Given the description of an element on the screen output the (x, y) to click on. 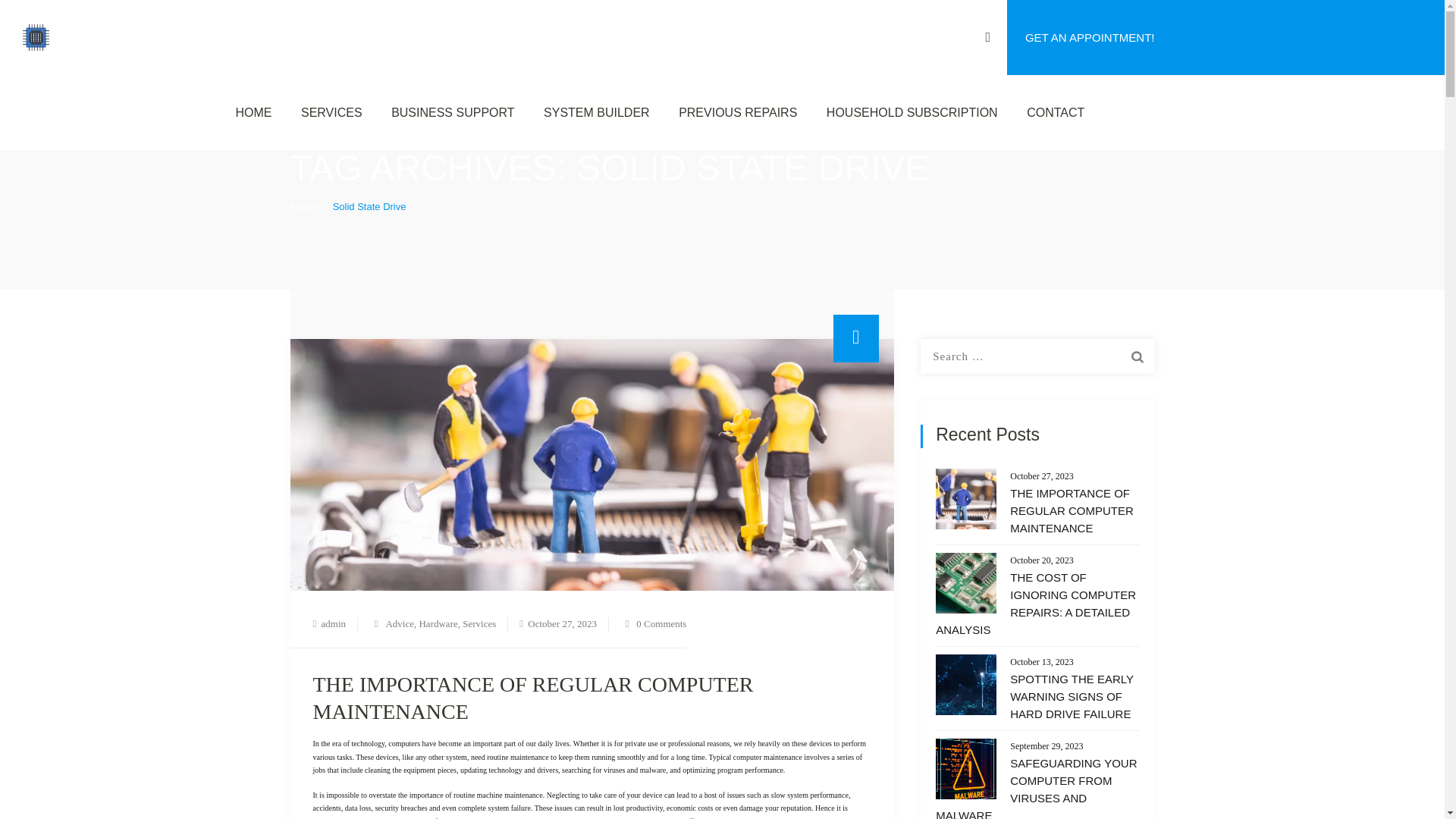
Go to Yorkshire Computer Systems. (303, 205)
Advice (399, 623)
0 Comments (660, 623)
HOUSEHOLD SUBSCRIPTION (911, 112)
admin (333, 623)
Home (303, 205)
Services (479, 623)
BUSINESS SUPPORT (452, 112)
SERVICES (330, 112)
SYSTEM BUILDER (596, 112)
